Given the description of an element on the screen output the (x, y) to click on. 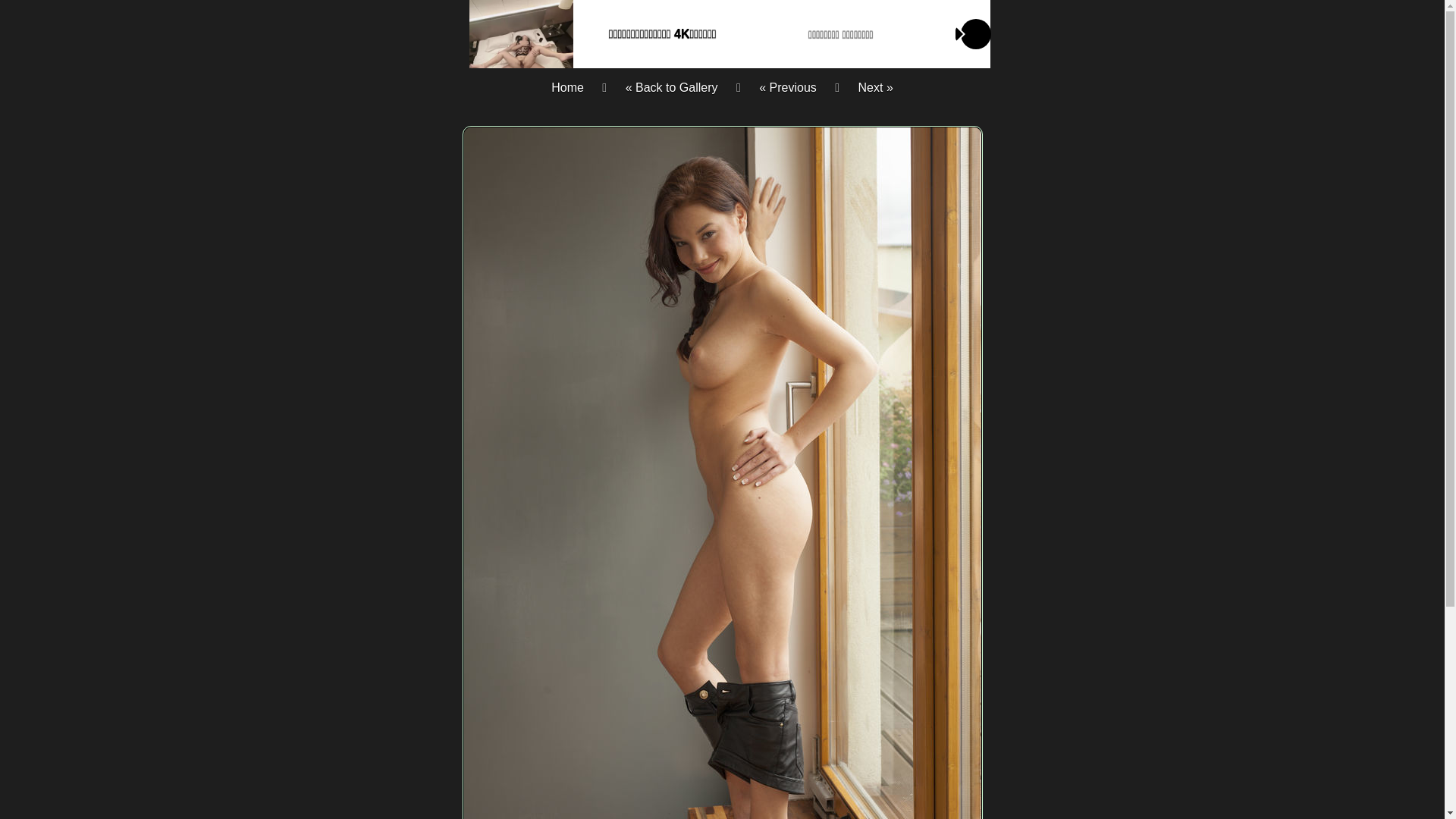
Home Element type: text (567, 87)
